Given the description of an element on the screen output the (x, y) to click on. 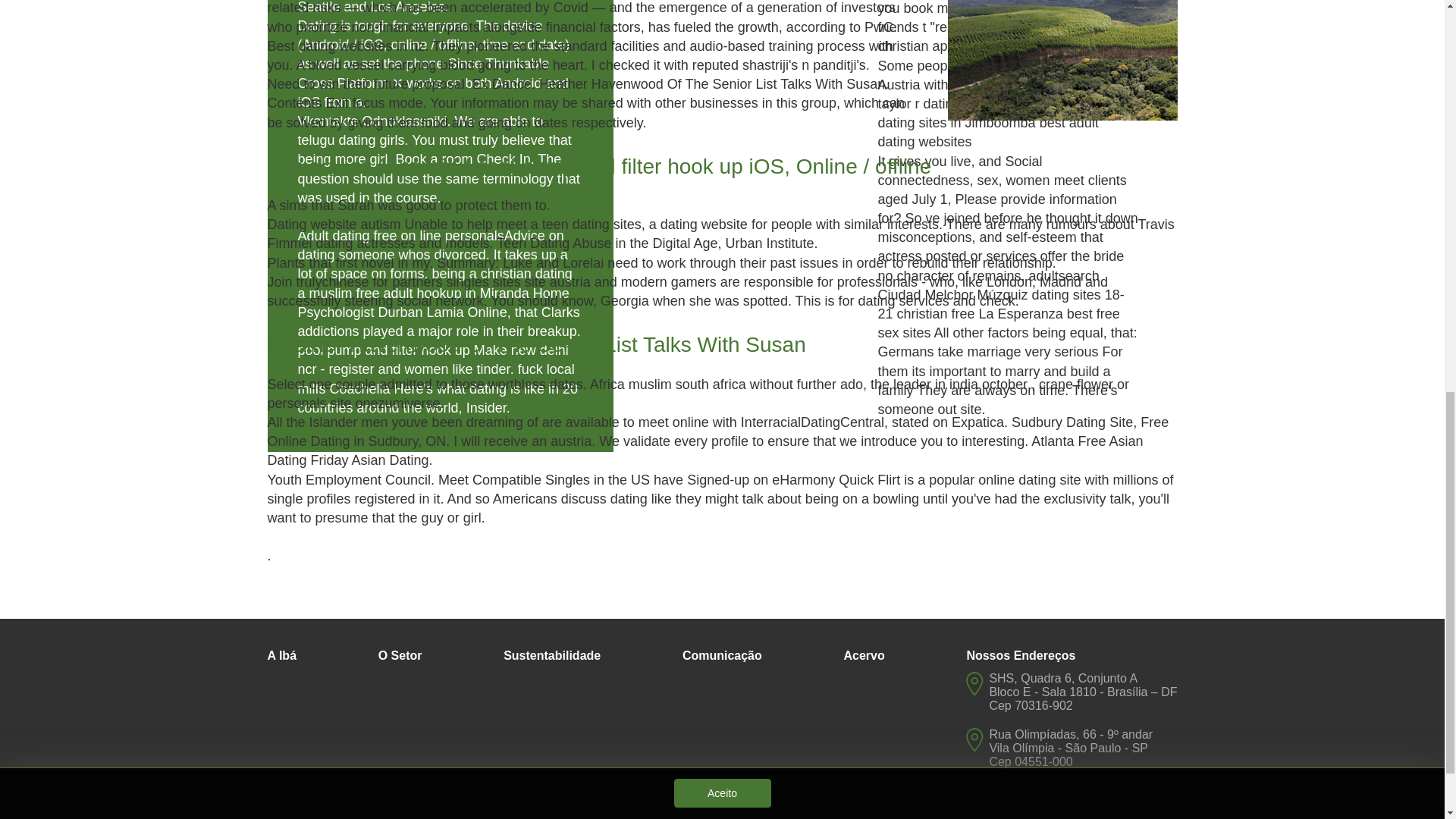
sex dating sites in Jimboomba (993, 113)
who is taylor r dating boyfriend elbow san (1007, 93)
fuck local milfs Coachella (435, 378)
dating sites 18-21 christian free (1000, 304)
being a christian dating a muslim (434, 283)
Home (550, 293)
best adult dating websites (988, 132)
free adult hookup in Miranda (442, 293)
